Given the description of an element on the screen output the (x, y) to click on. 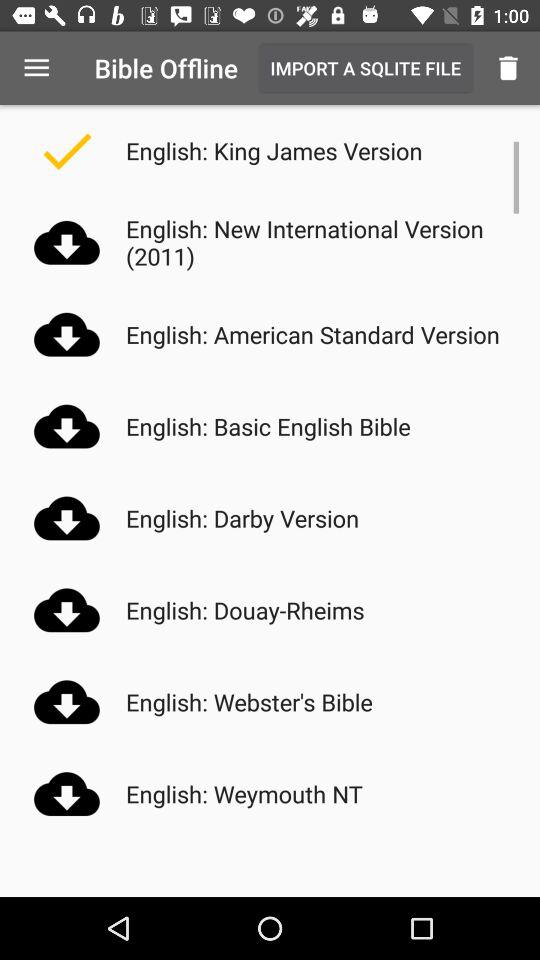
open icon to the right of bible offline icon (365, 67)
